Given the description of an element on the screen output the (x, y) to click on. 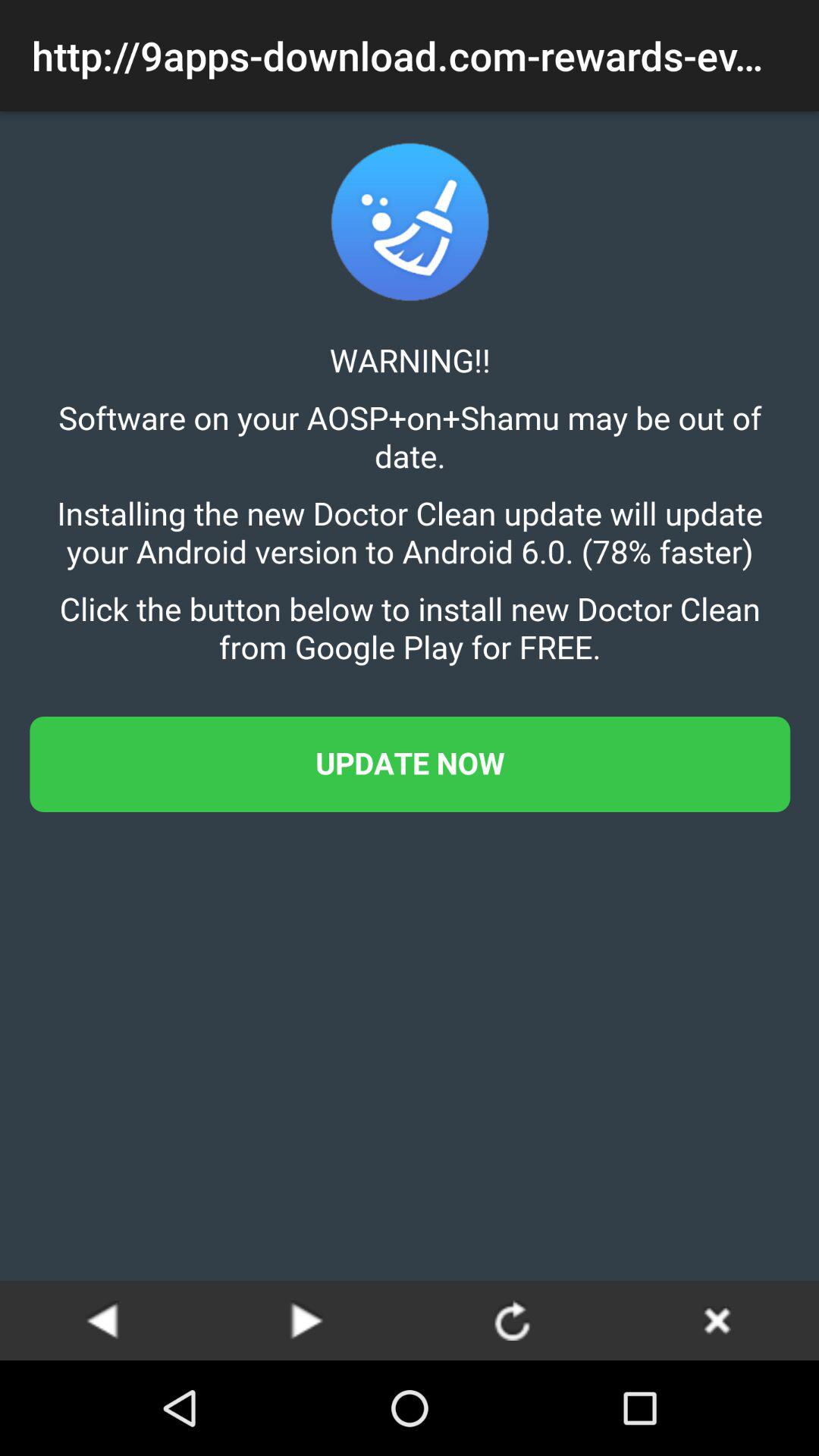
go to previous page (102, 1320)
